Given the description of an element on the screen output the (x, y) to click on. 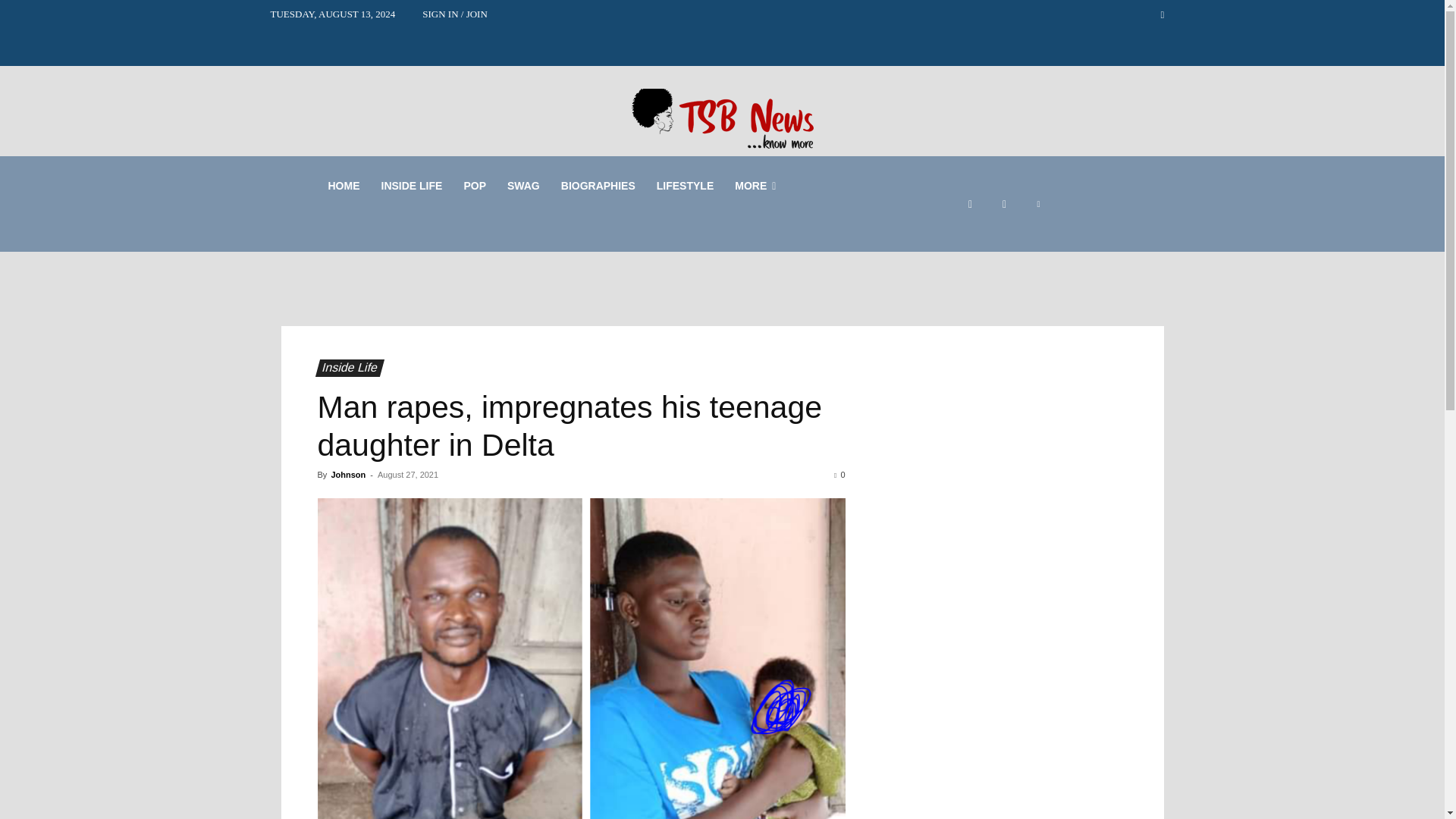
INSIDE LIFE (410, 185)
0 (839, 474)
Style (523, 185)
BIOGRAPHIES (598, 185)
Twitter (1038, 203)
HOME (343, 185)
POP (474, 185)
Johnson (347, 474)
News as it Breaks (410, 185)
LIFESTYLE (684, 185)
